Given the description of an element on the screen output the (x, y) to click on. 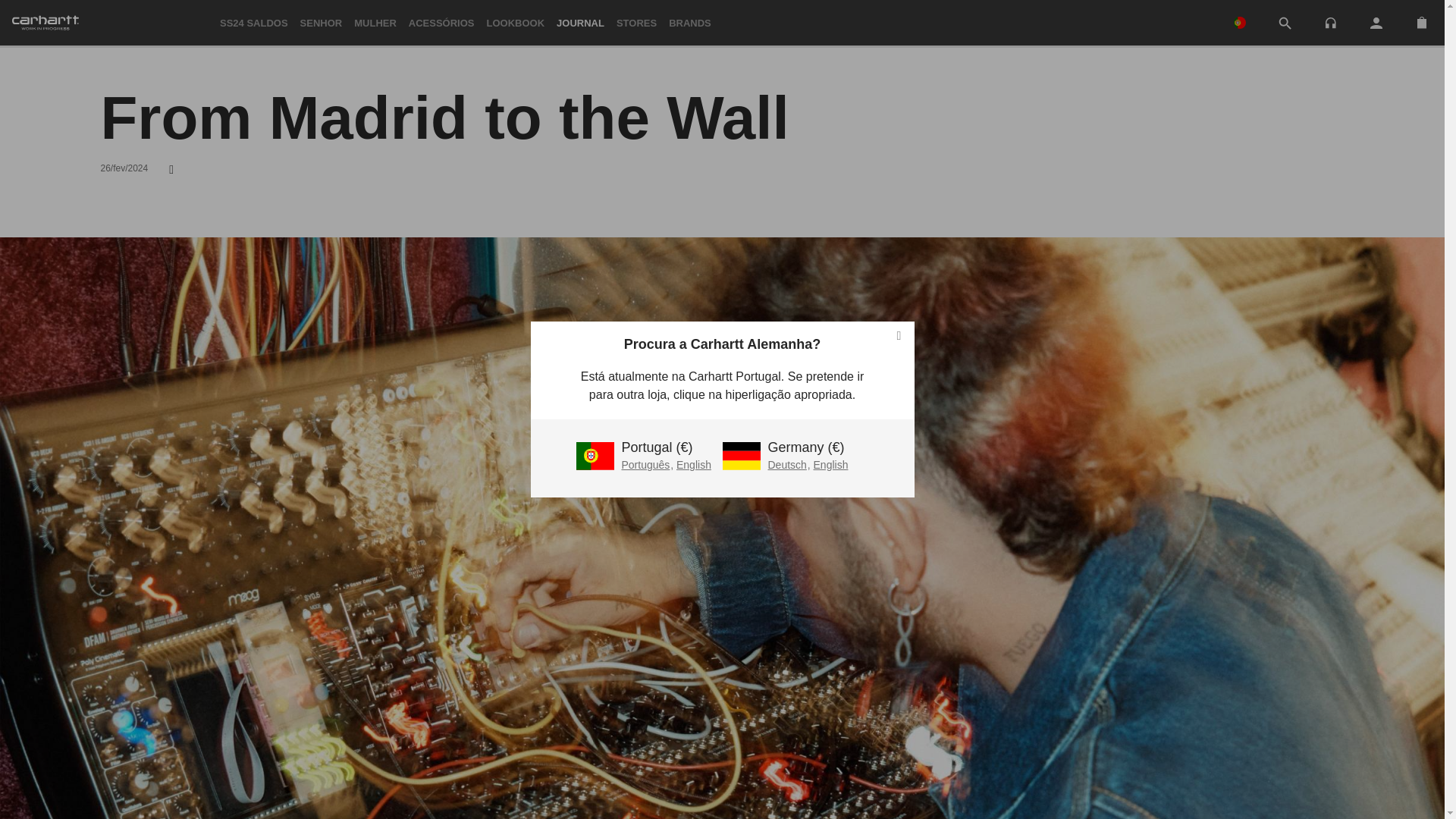
Radio (1330, 22)
Radio (1330, 21)
Pesquisa aqui (1284, 22)
Pesquisa aqui (1285, 23)
